Given the description of an element on the screen output the (x, y) to click on. 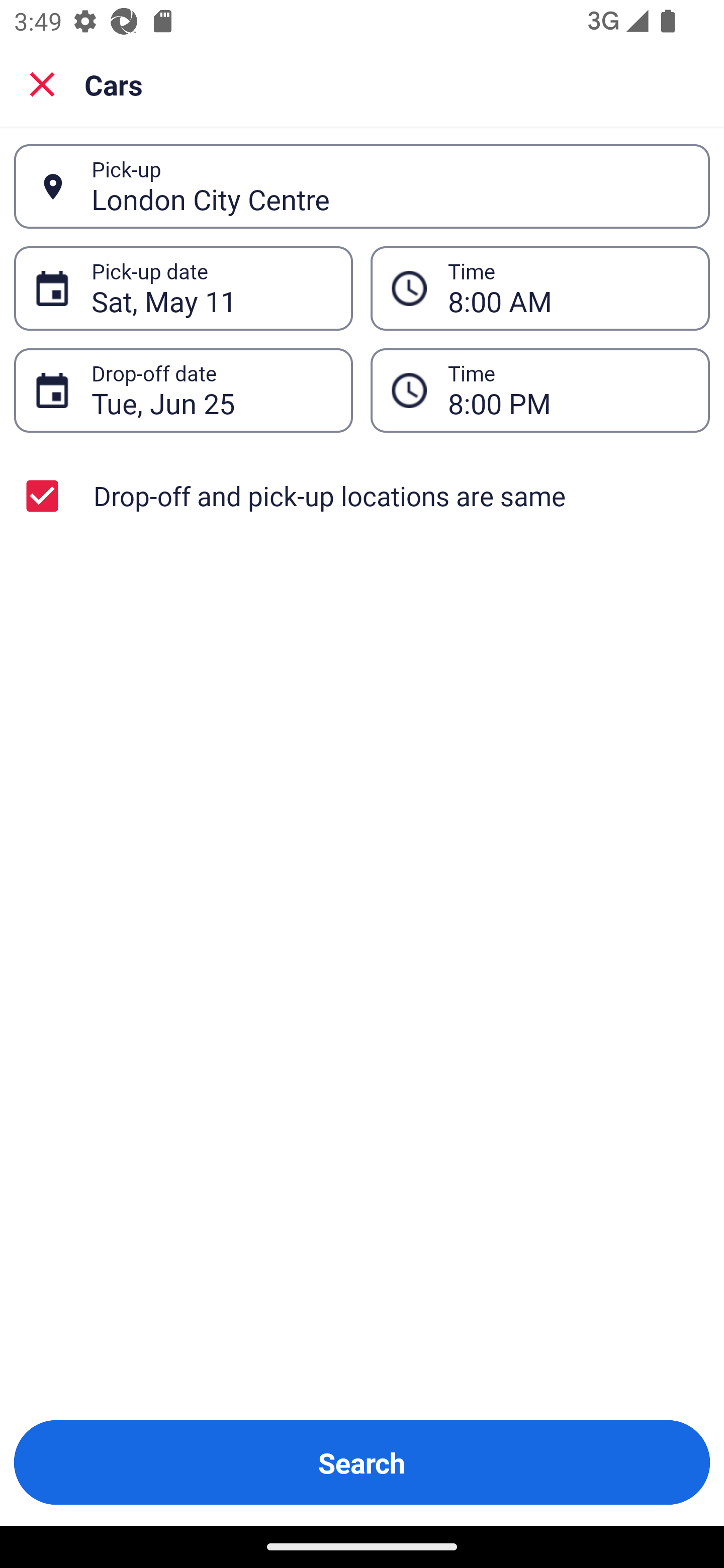
Close search screen (41, 83)
London City Centre Pick-up (361, 186)
London City Centre (389, 186)
Sat, May 11 Pick-up date (183, 288)
8:00 AM (540, 288)
Sat, May 11 (211, 288)
8:00 AM (568, 288)
Tue, Jun 25 Drop-off date (183, 390)
8:00 PM (540, 390)
Tue, Jun 25 (211, 390)
8:00 PM (568, 390)
Drop-off and pick-up locations are same (361, 495)
Search Button Search (361, 1462)
